Given the description of an element on the screen output the (x, y) to click on. 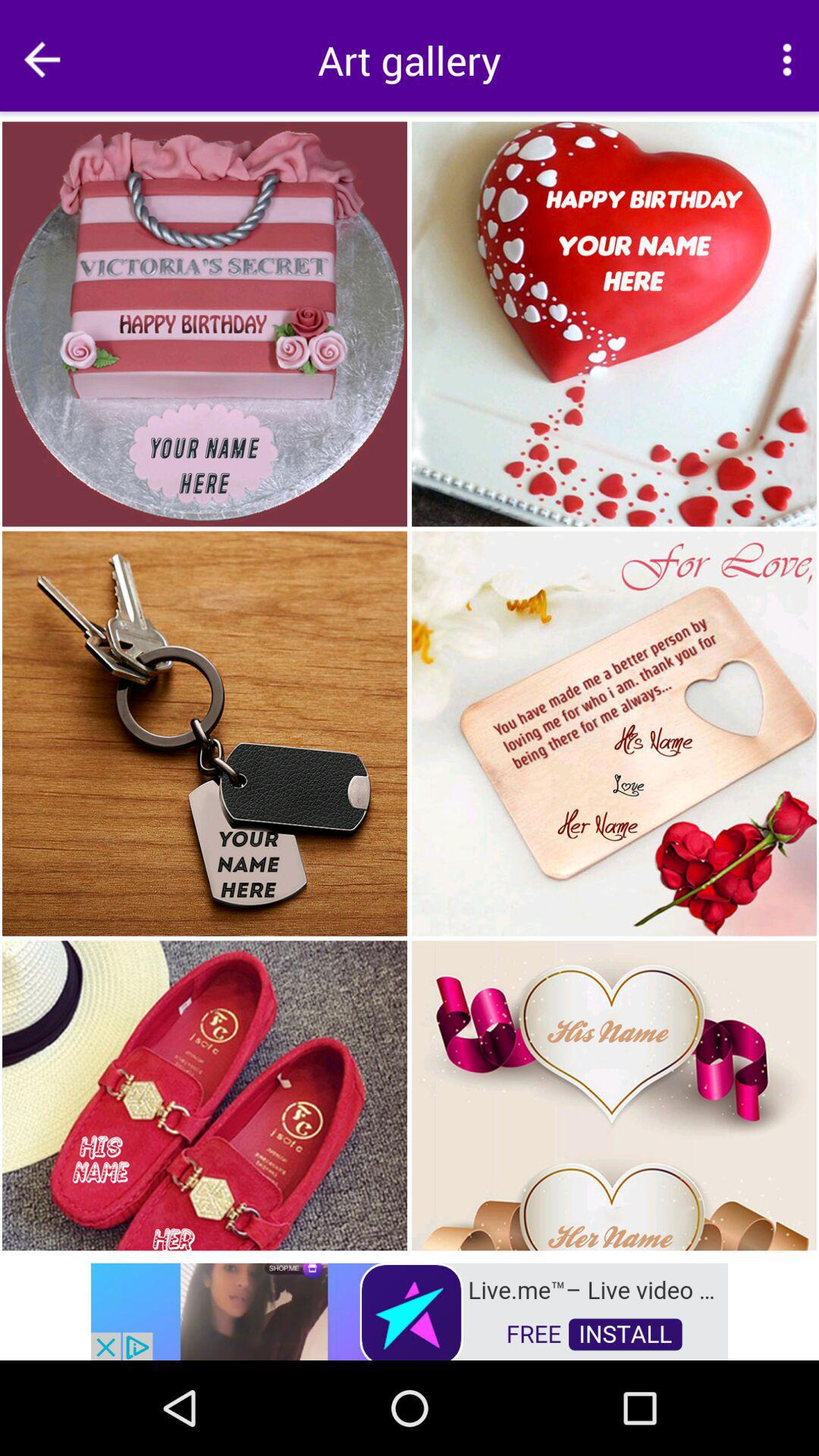
options (787, 59)
